Given the description of an element on the screen output the (x, y) to click on. 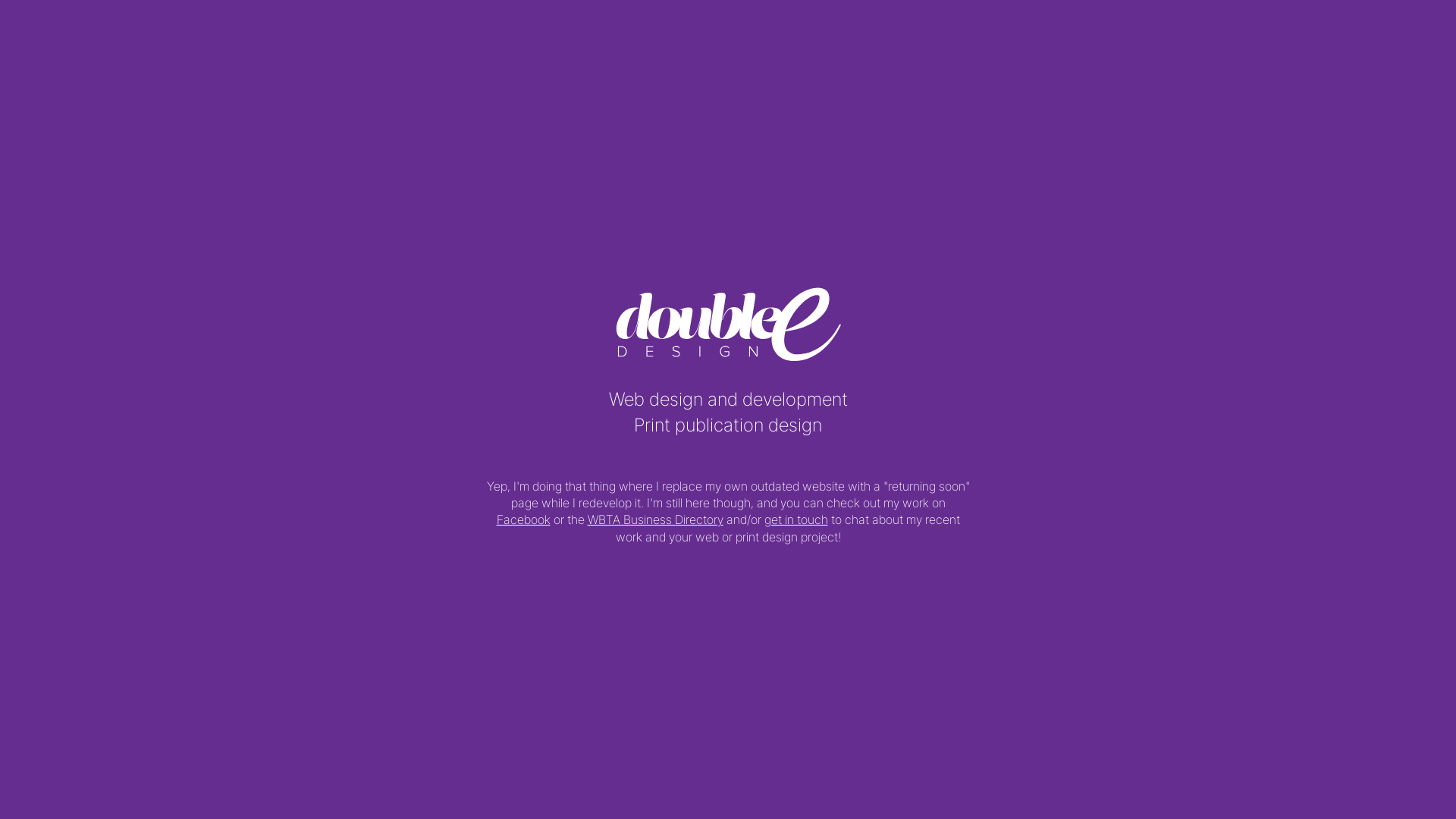
WBTA Business Directory Element type: text (654, 519)
Facebook Element type: text (522, 519)
get in touch Element type: text (796, 519)
